Given the description of an element on the screen output the (x, y) to click on. 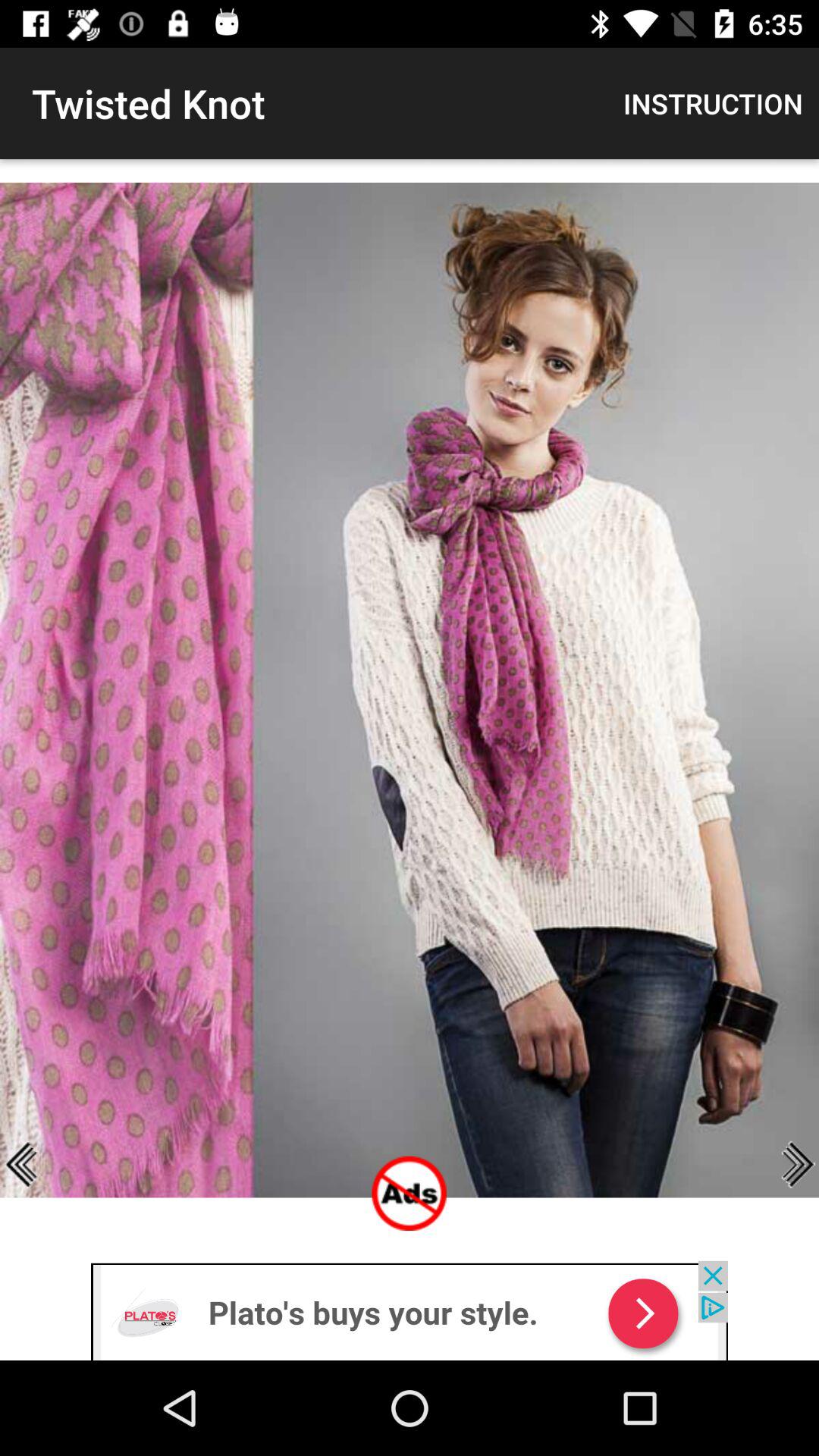
be redirected to plato 's website (409, 1310)
